Given the description of an element on the screen output the (x, y) to click on. 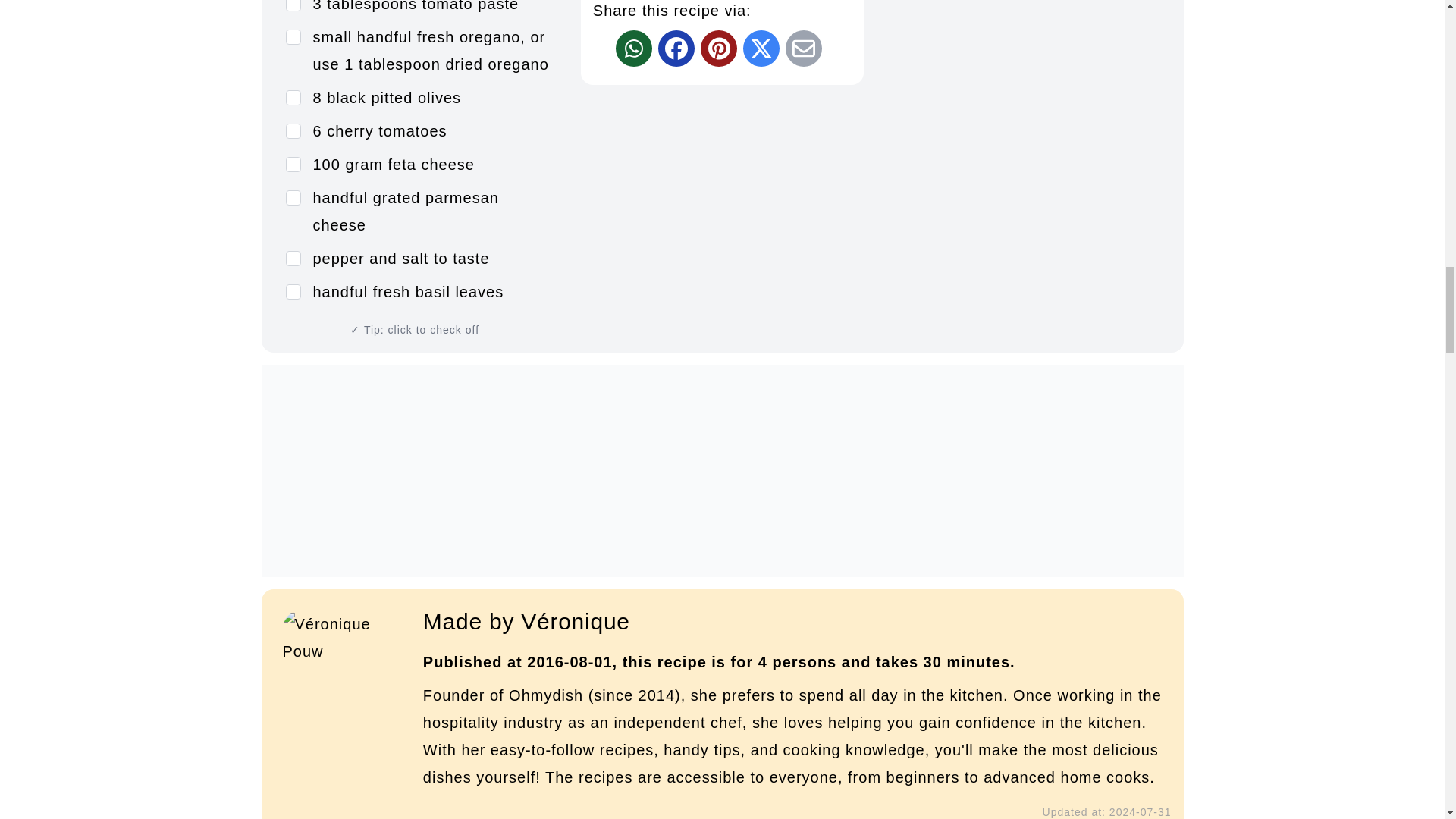
on (292, 130)
on (292, 5)
on (292, 164)
on (292, 197)
on (292, 291)
on (292, 37)
on (292, 97)
on (292, 258)
